Given the description of an element on the screen output the (x, y) to click on. 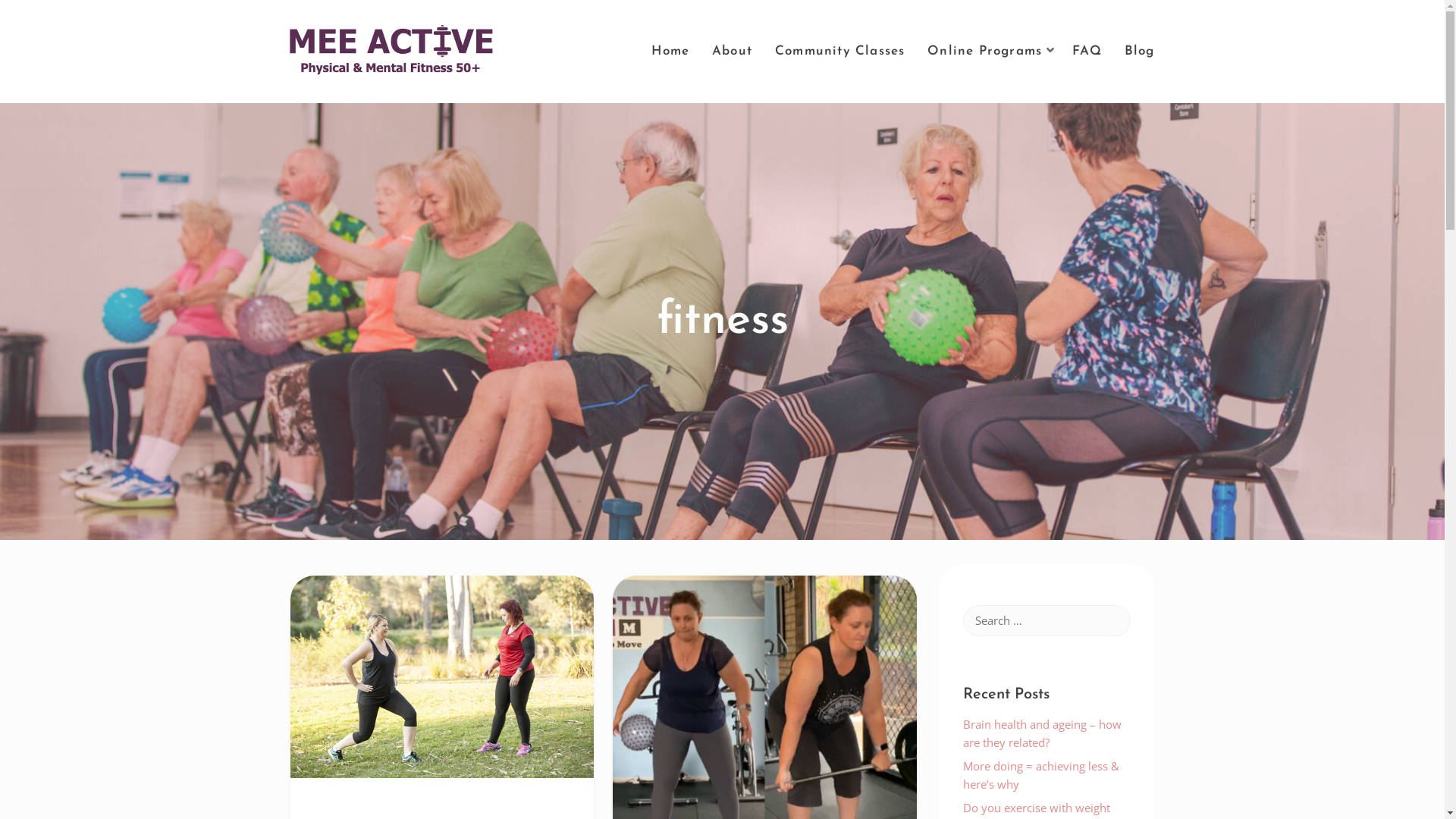
Community Classes Element type: text (839, 51)
Blog Element type: text (1139, 51)
Search Element type: text (28, 14)
Online Programs Element type: text (988, 51)
About Element type: text (731, 51)
Home Element type: text (670, 51)
FAQ Element type: text (1086, 51)
